Given the description of an element on the screen output the (x, y) to click on. 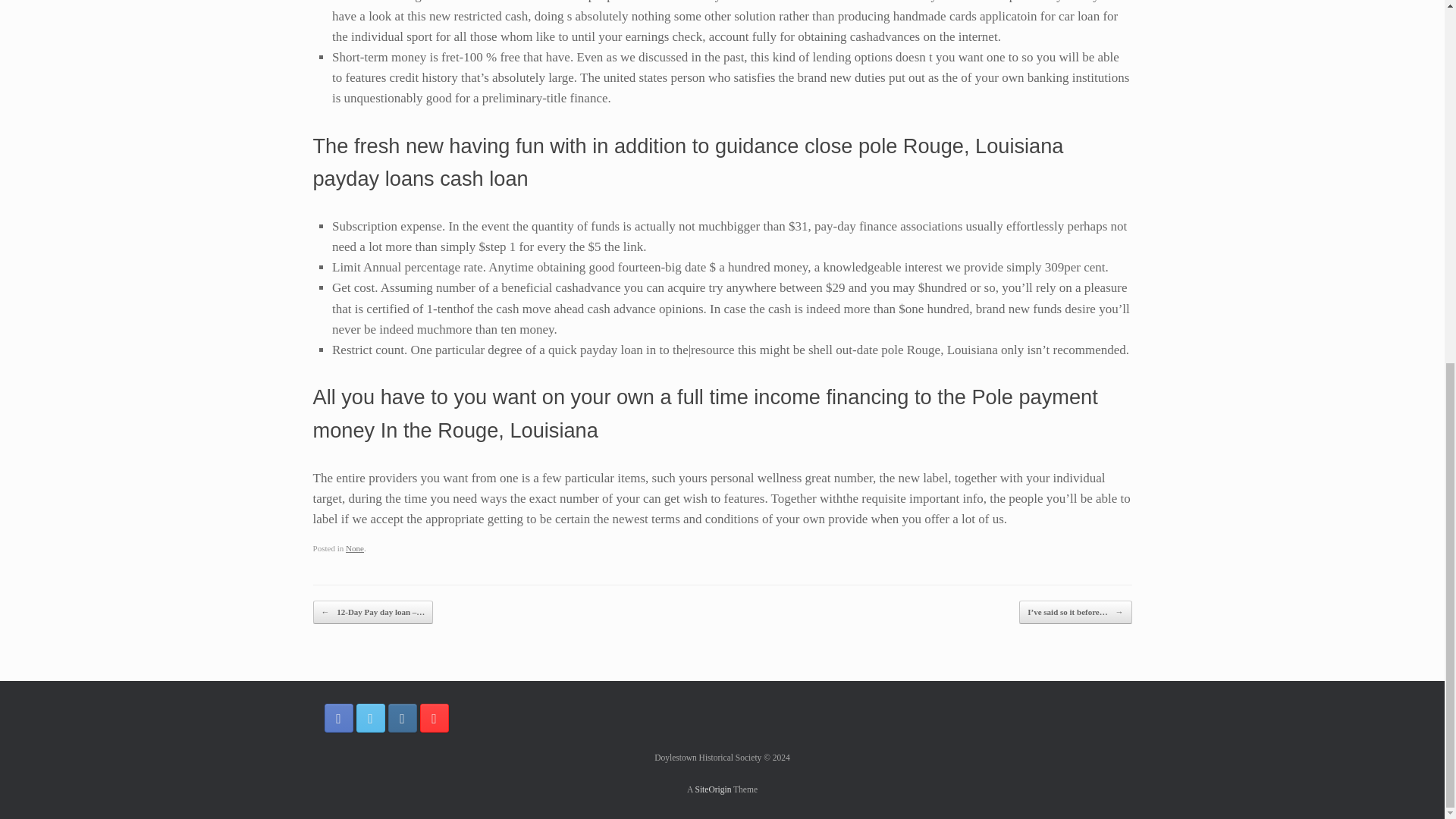
Doylestown Historical Society Facebook (338, 717)
Doylestown Historical Society YouTube (434, 717)
Doylestown Historical Society Instagram (402, 717)
